Given the description of an element on the screen output the (x, y) to click on. 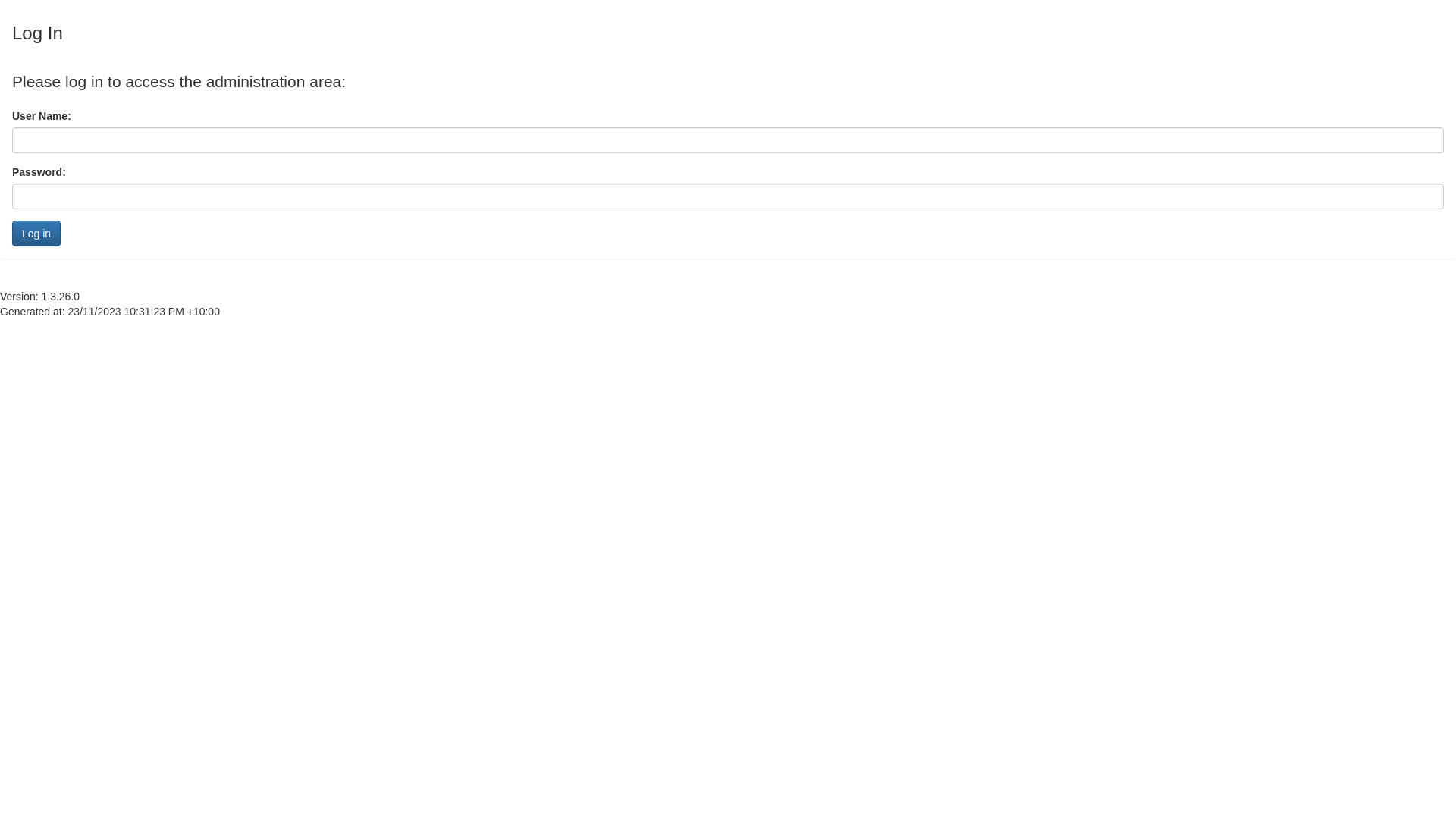
Log in Element type: text (36, 233)
